Given the description of an element on the screen output the (x, y) to click on. 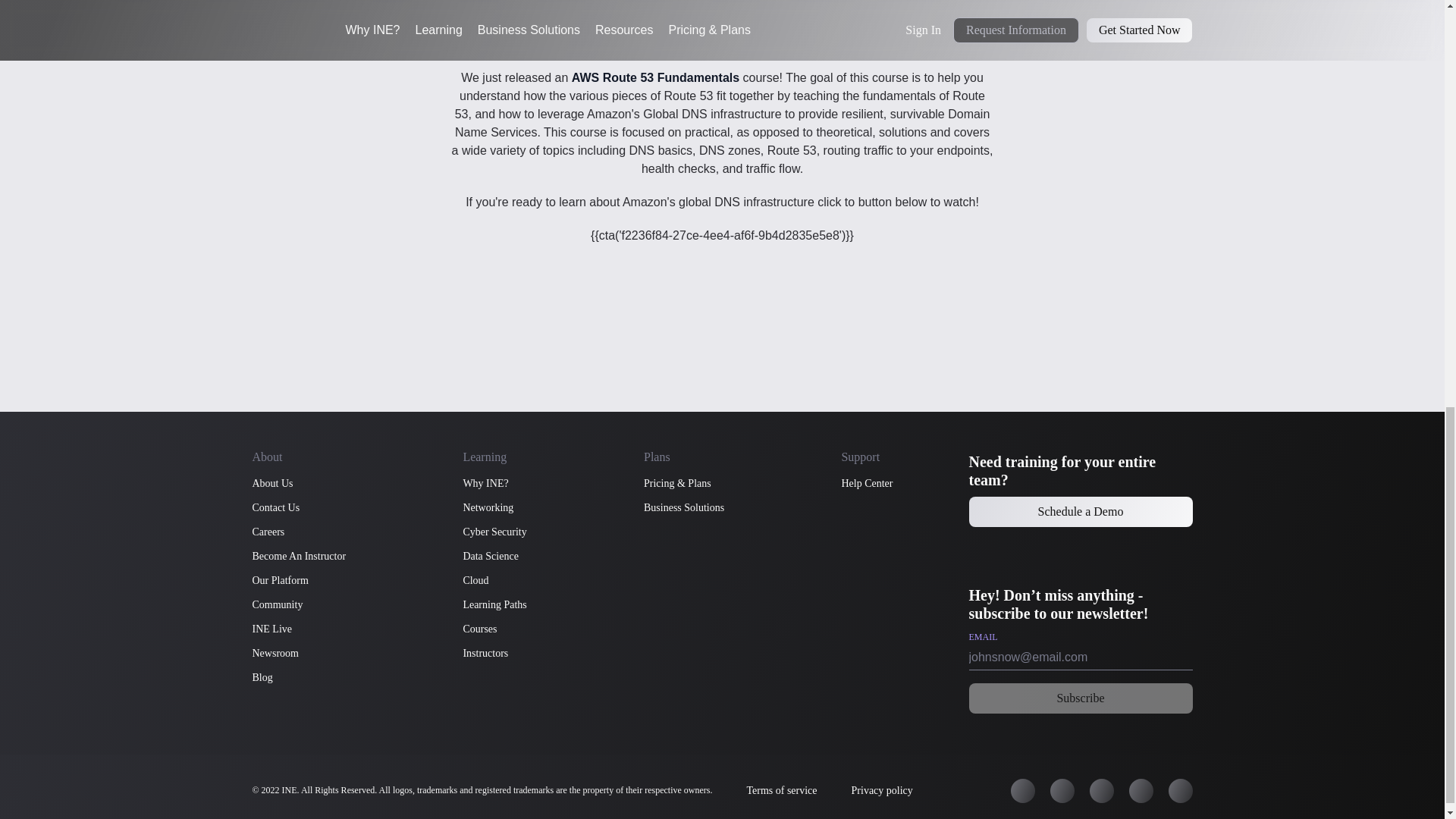
Subscribe (1080, 698)
Schedule a Demo (1080, 511)
